Given the description of an element on the screen output the (x, y) to click on. 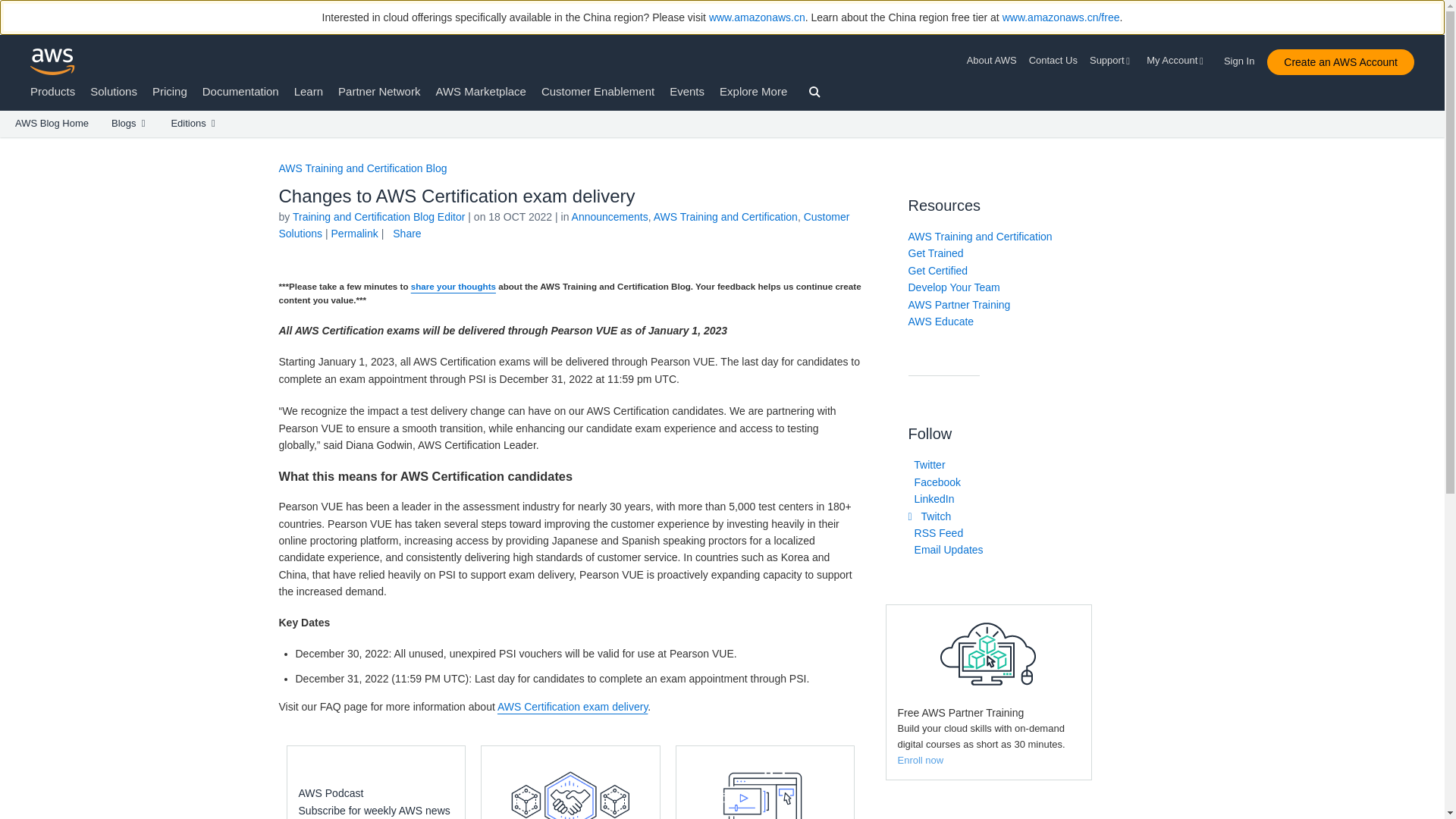
Learn (308, 91)
Click here to return to Amazon Web Services homepage (52, 61)
Pricing (169, 91)
www.amazonaws.cn (757, 17)
Documentation (240, 91)
Partner Network (378, 91)
View all posts in Announcements (609, 216)
AWS Marketplace (480, 91)
Customer Enablement (597, 91)
Posts by Training and Certification Blog Editor (378, 216)
